Given the description of an element on the screen output the (x, y) to click on. 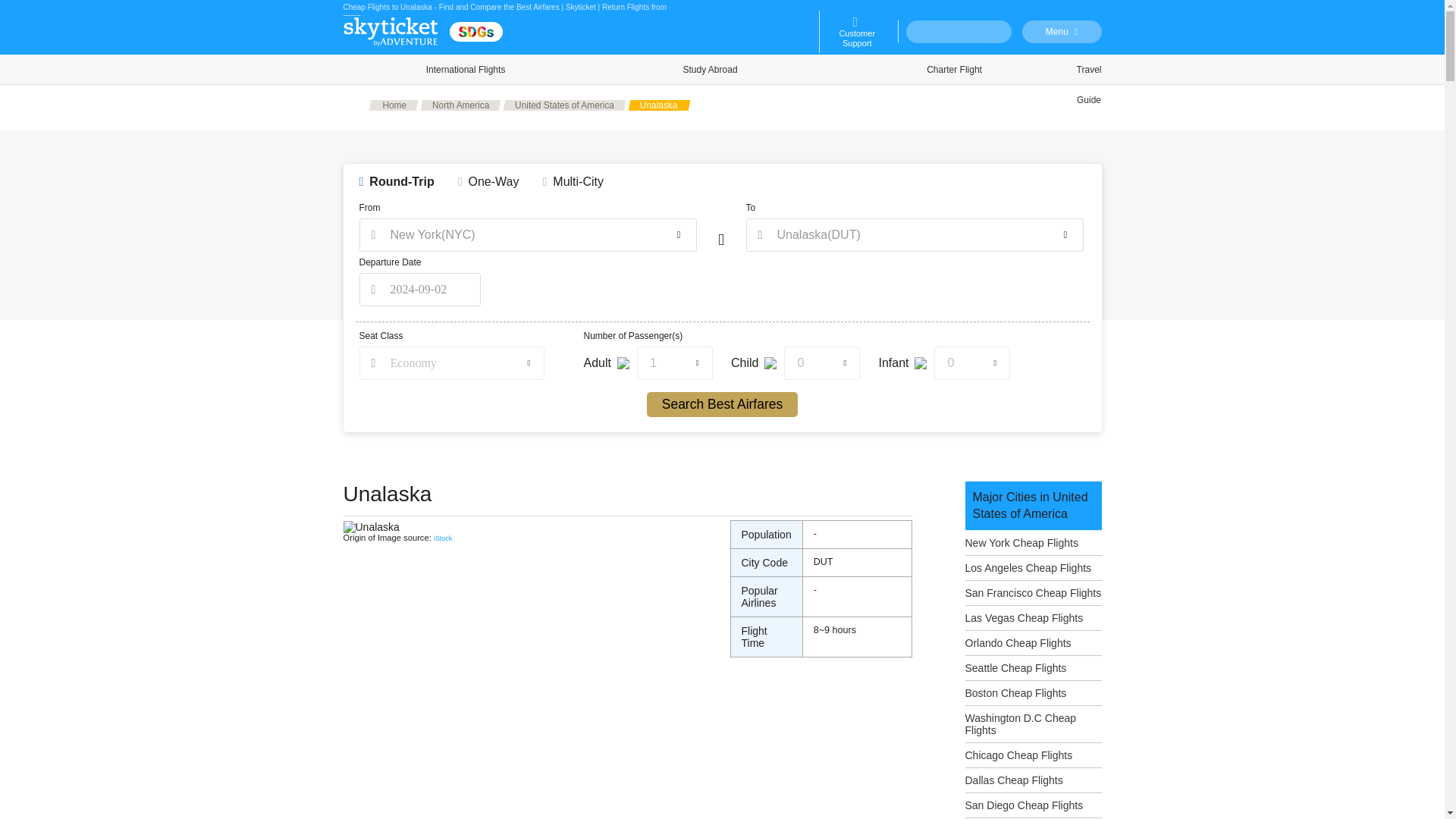
Menu (1062, 31)
Unalaska (659, 104)
Home (393, 104)
North America (460, 104)
2024-09-02 (419, 289)
International Flights (465, 69)
Customer Support (856, 31)
Study Abroad (710, 69)
United States of America (564, 104)
Charter Flight (954, 69)
